Given the description of an element on the screen output the (x, y) to click on. 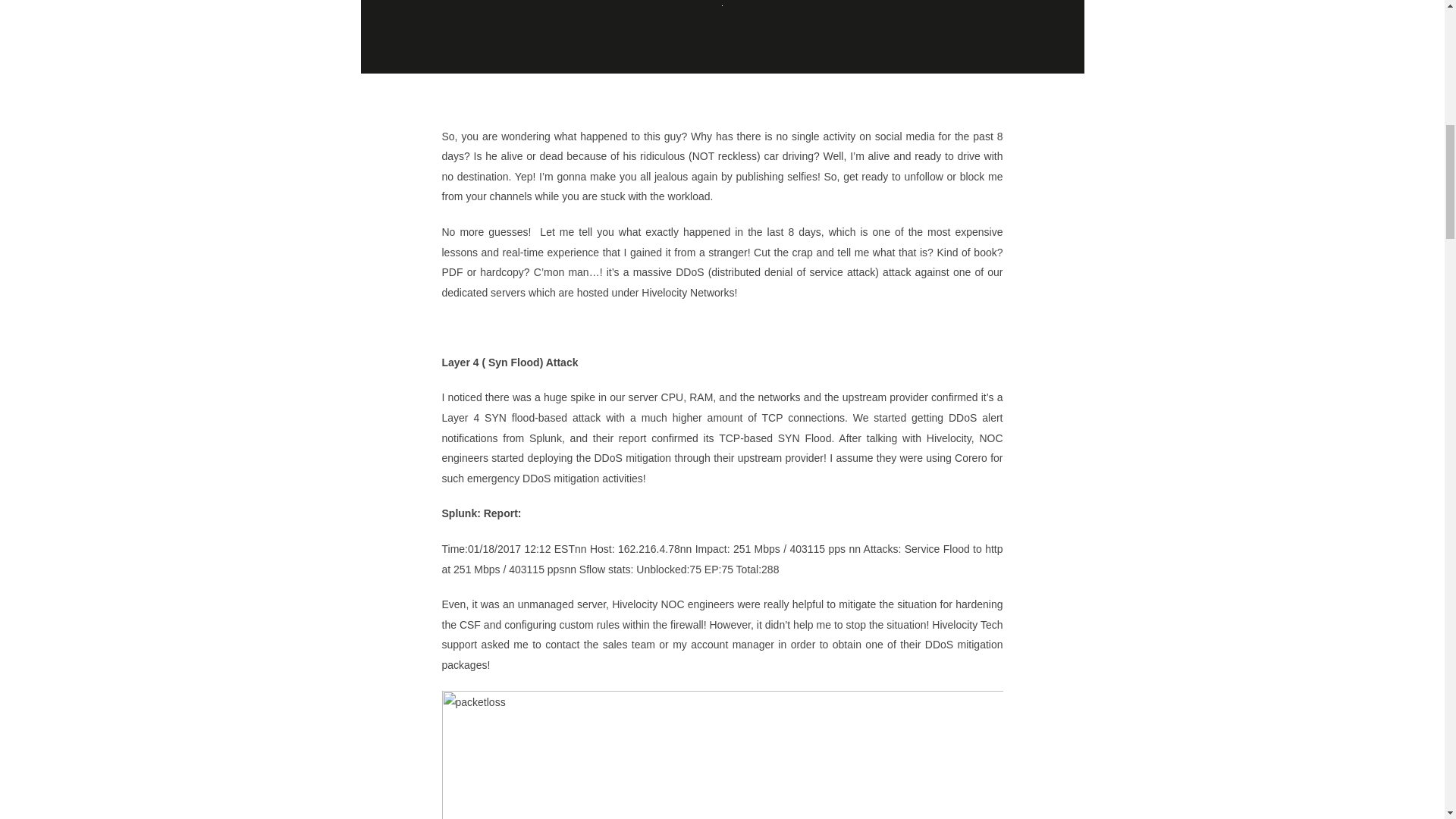
I Had The Most Un-adventurous Time Of My Life, Here's why! 1 (722, 755)
